Given the description of an element on the screen output the (x, y) to click on. 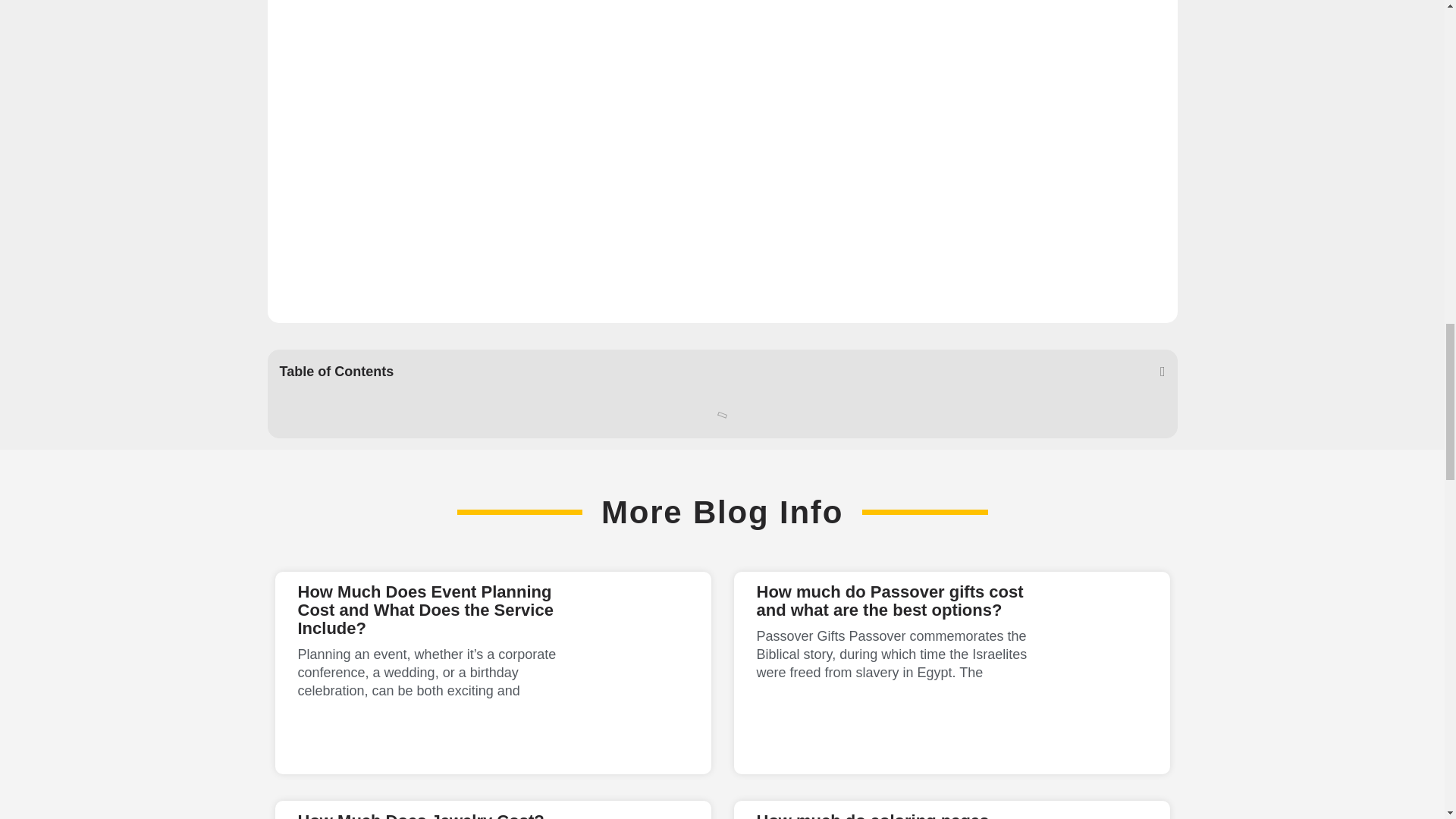
How much do coloring pages cost? (873, 815)
How Much Does Jewelry Cost? (420, 815)
